Given the description of an element on the screen output the (x, y) to click on. 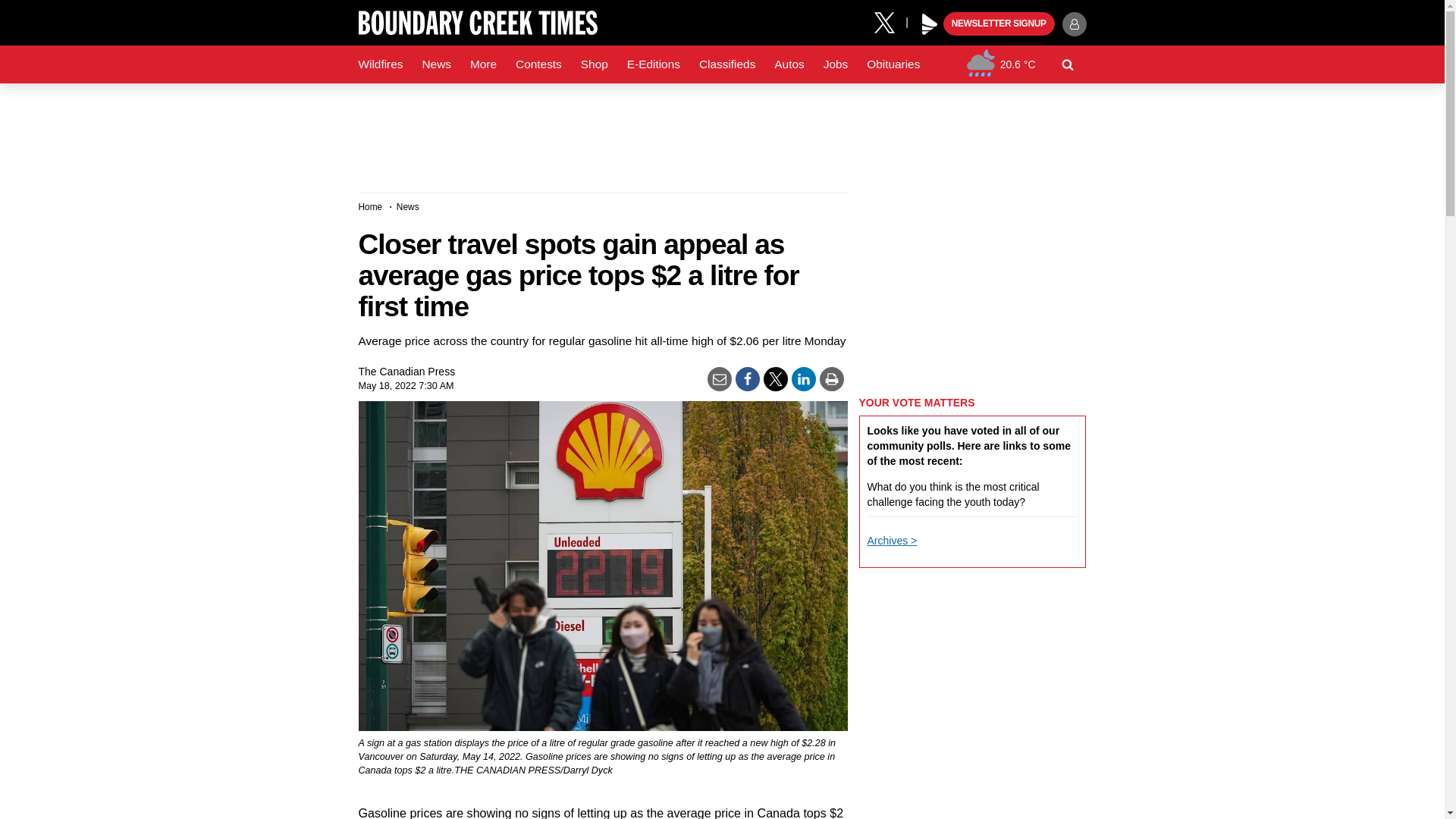
Wildfires (380, 64)
X (889, 21)
Black Press Media (929, 24)
News (435, 64)
Play (929, 24)
NEWSLETTER SIGNUP (998, 24)
